Given the description of an element on the screen output the (x, y) to click on. 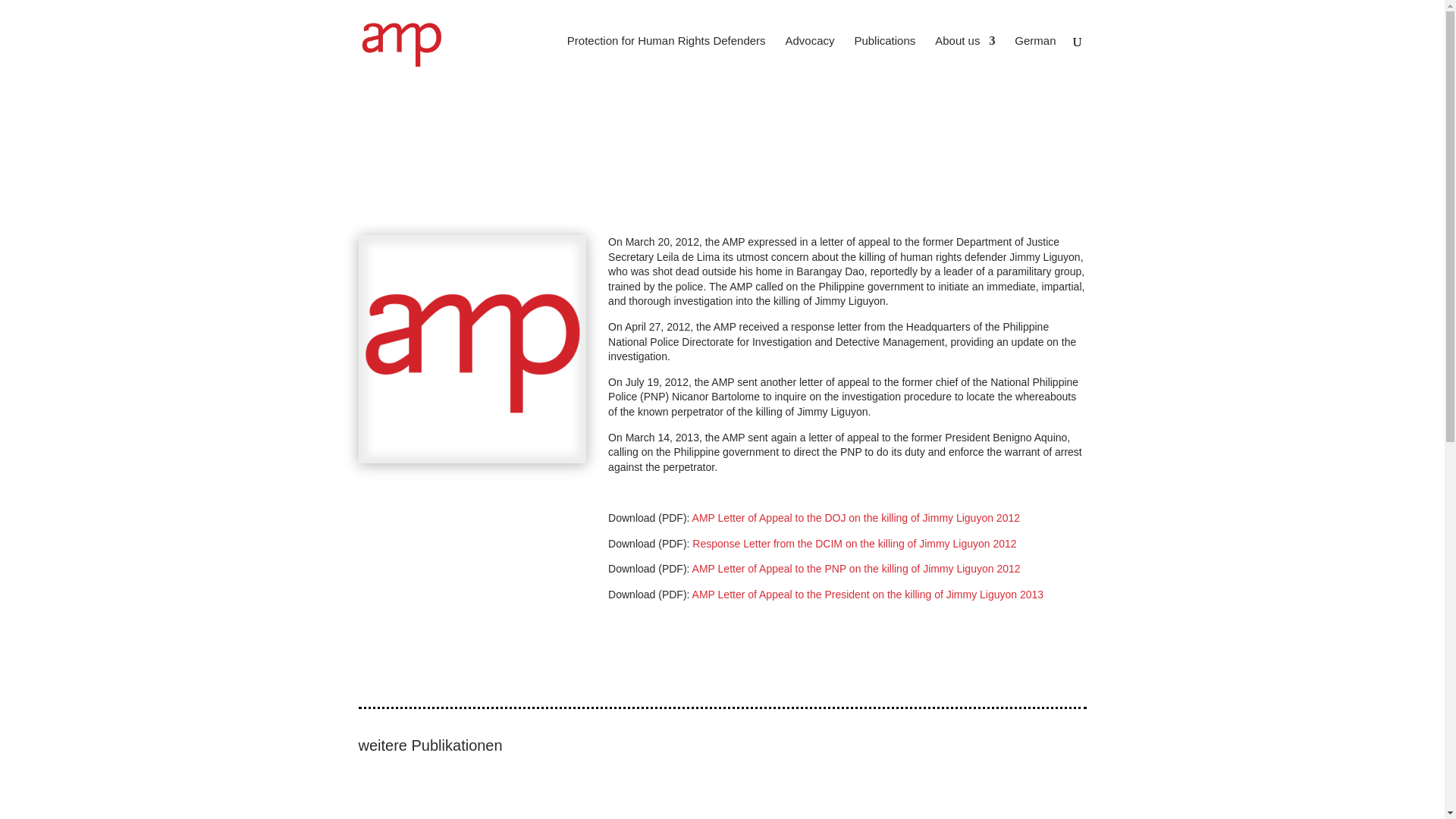
Publications (884, 58)
Advocacy (809, 58)
Protection for Human Rights Defenders (666, 58)
About us (964, 58)
AMP Logo (472, 349)
